Given the description of an element on the screen output the (x, y) to click on. 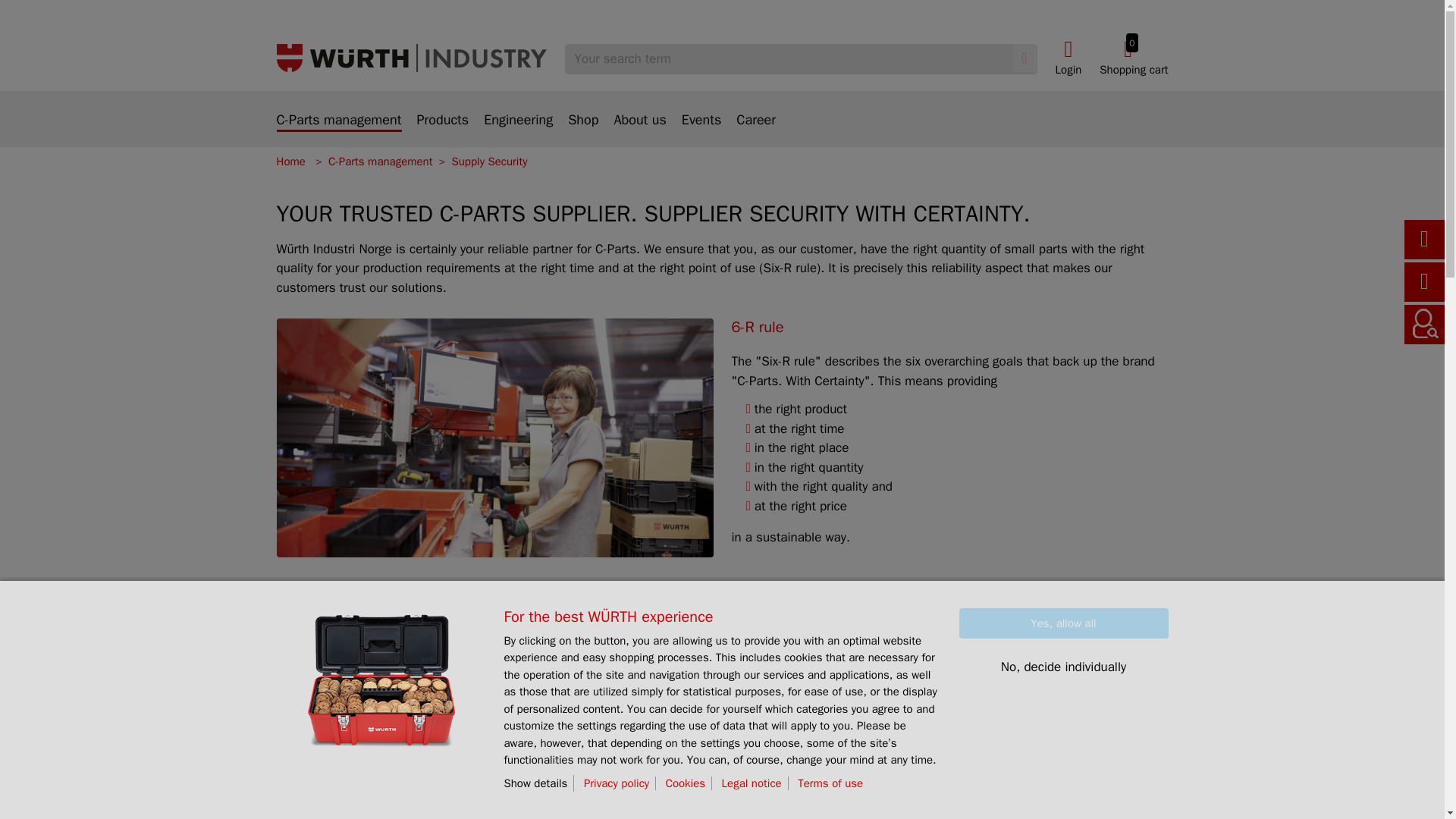
Engineering (518, 128)
Products (442, 128)
C-Parts management (338, 120)
About us (638, 128)
Batch tracebility (1133, 57)
6-R rule for maximum supply security (948, 712)
